Given the description of an element on the screen output the (x, y) to click on. 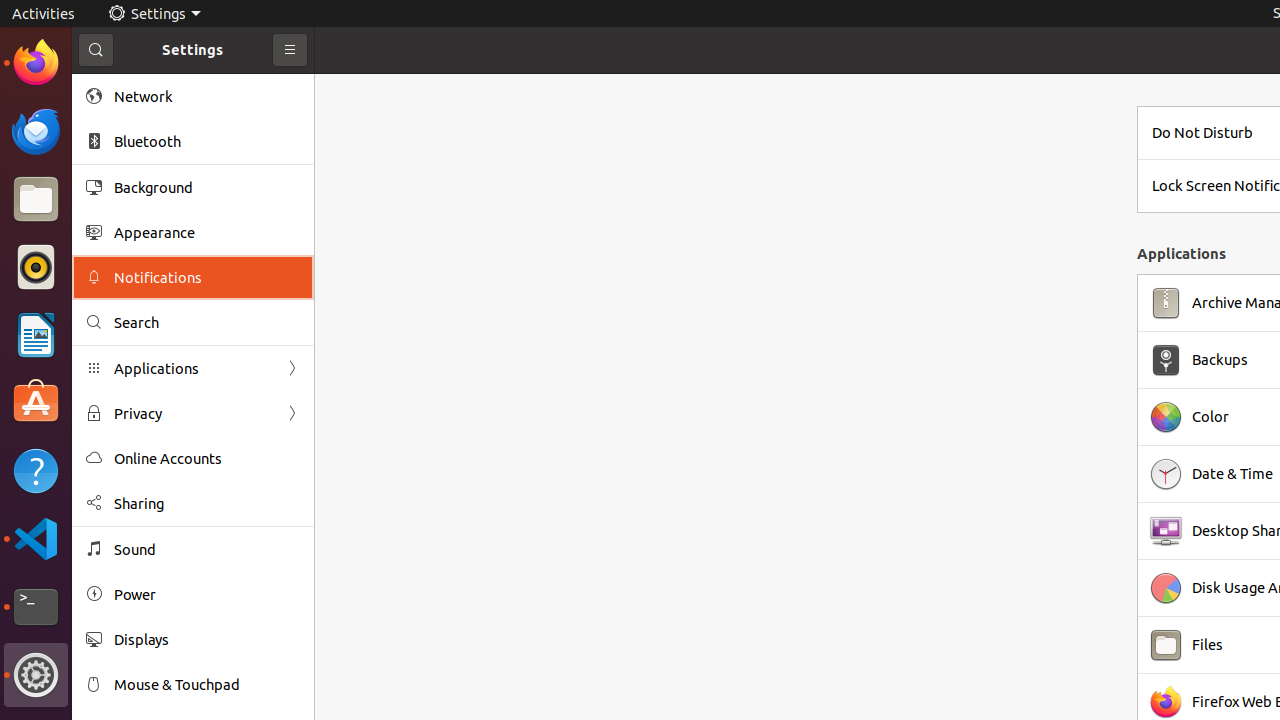
Do Not Disturb Element type: label (1202, 133)
Sharing Element type: label (207, 503)
